Given the description of an element on the screen output the (x, y) to click on. 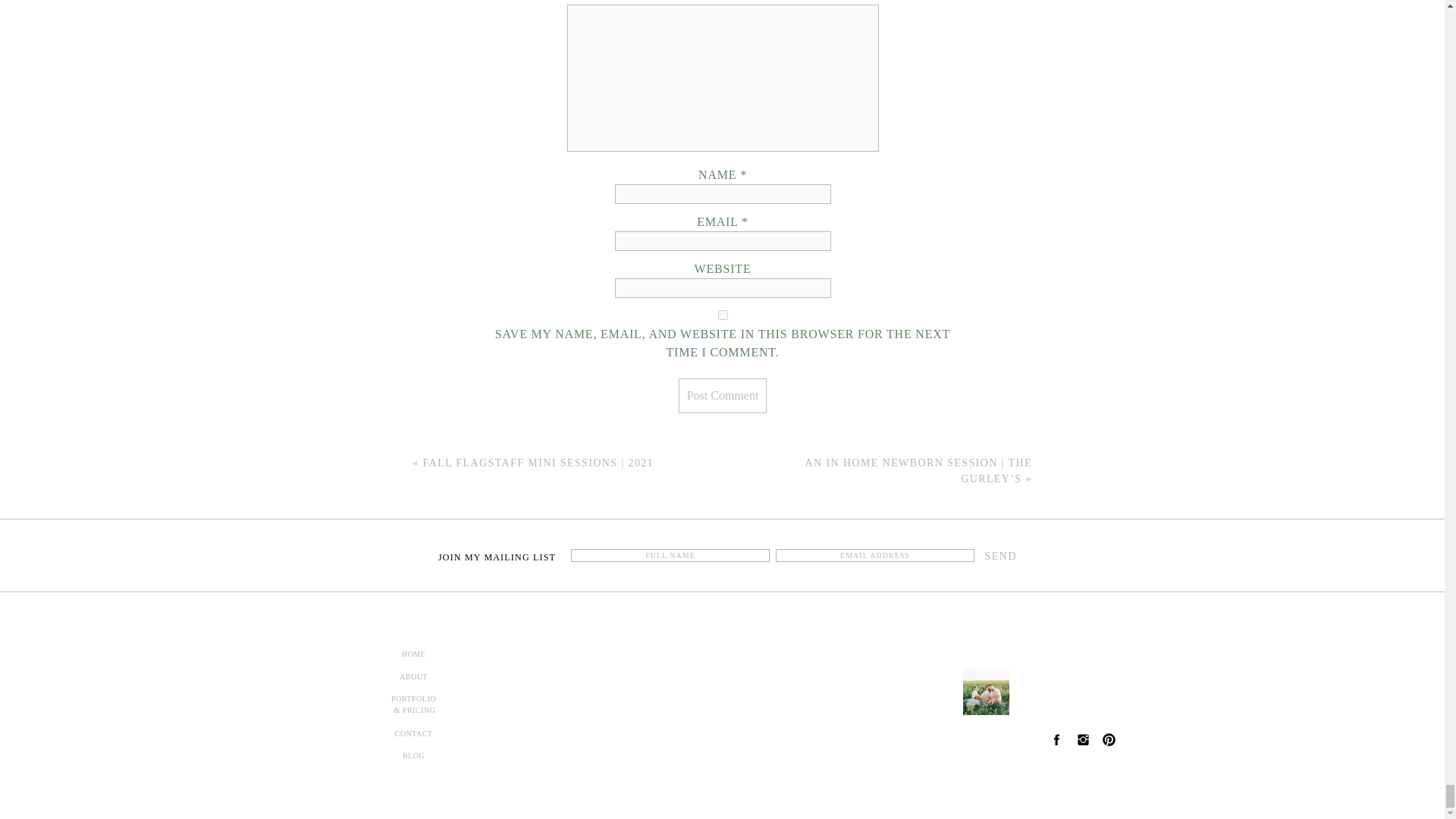
CONTACT (413, 736)
yes (722, 315)
Post Comment (722, 395)
BLOG (413, 758)
HOME (413, 656)
Post Comment (722, 395)
SEND (1000, 555)
ABOUT (413, 679)
